Given the description of an element on the screen output the (x, y) to click on. 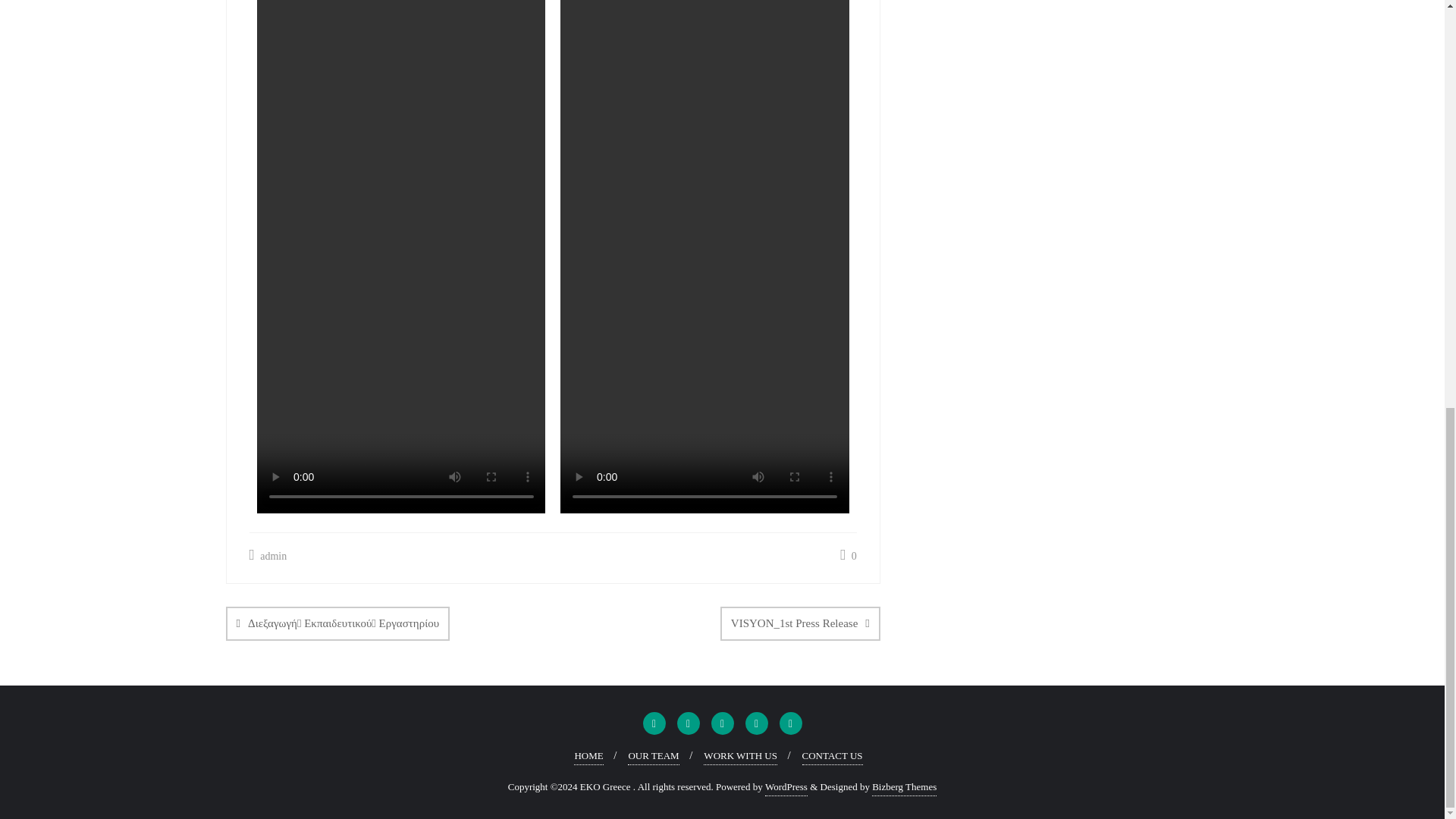
admin (267, 556)
OUR TEAM (652, 755)
HOME (587, 755)
WordPress (786, 787)
WORK WITH US (740, 755)
Bizberg Themes (904, 787)
CONTACT US (832, 755)
